Given the description of an element on the screen output the (x, y) to click on. 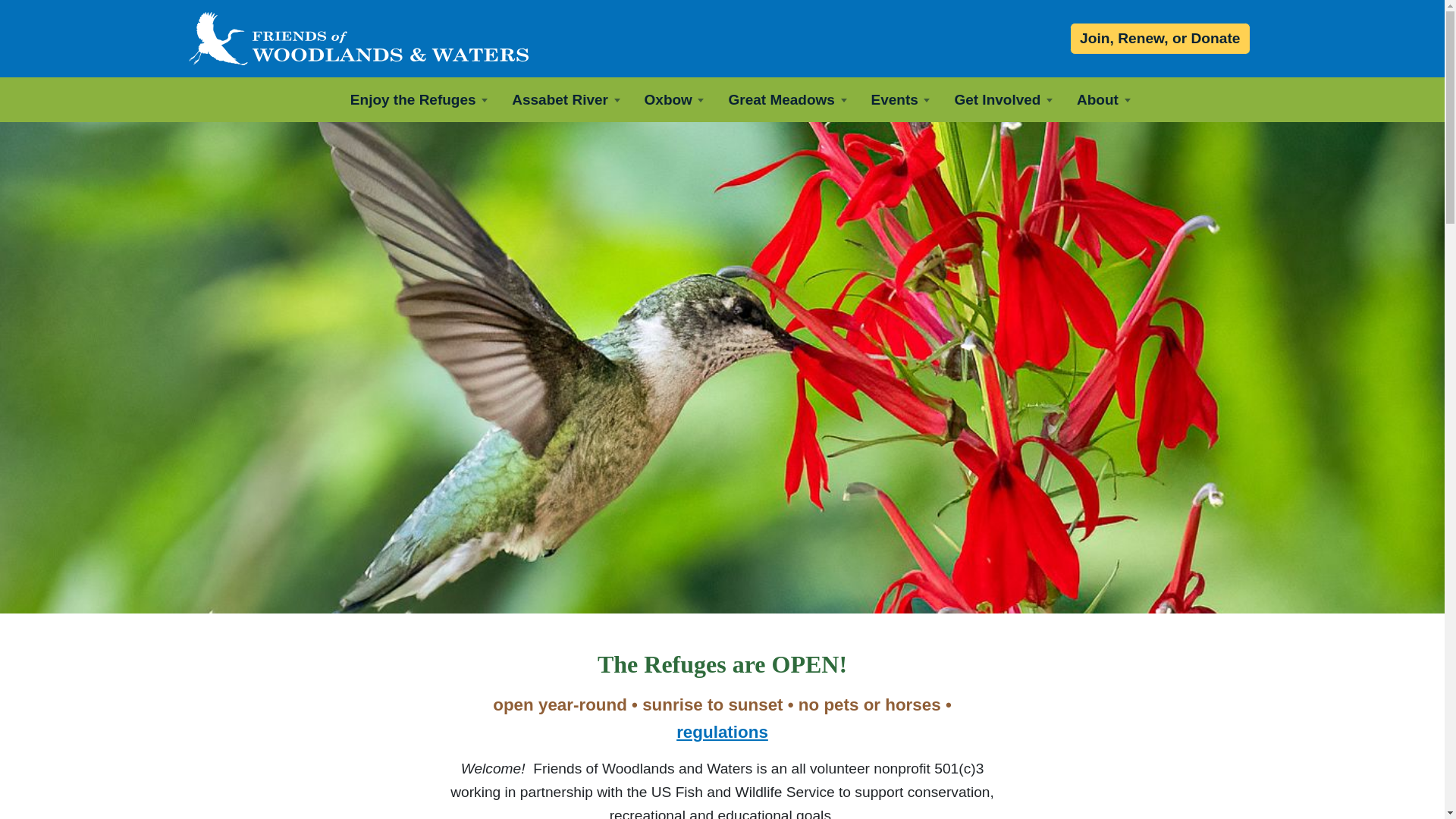
Join, Renew, or Donate (1159, 38)
Enjoy the Refuges (418, 99)
Get Involved (1003, 99)
Oxbow (673, 99)
About (1102, 99)
Events (900, 99)
Great Meadows (787, 99)
Assabet River (565, 99)
